Given the description of an element on the screen output the (x, y) to click on. 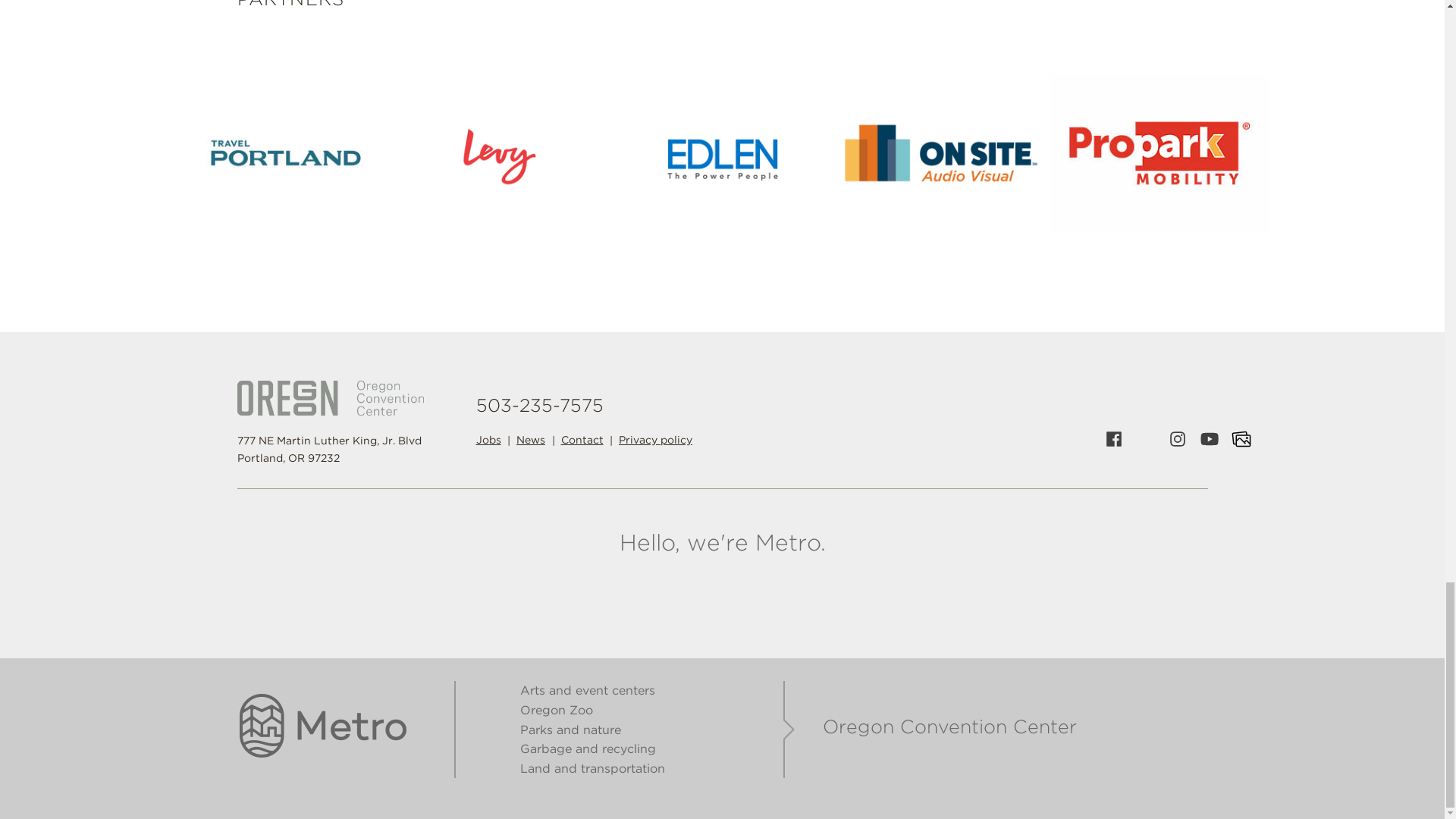
Facebook (1113, 439)
YouTube (1209, 439)
Oregon Convention Center (329, 397)
Twitter (1145, 439)
Instagram (1177, 439)
Edlen (721, 152)
